Given the description of an element on the screen output the (x, y) to click on. 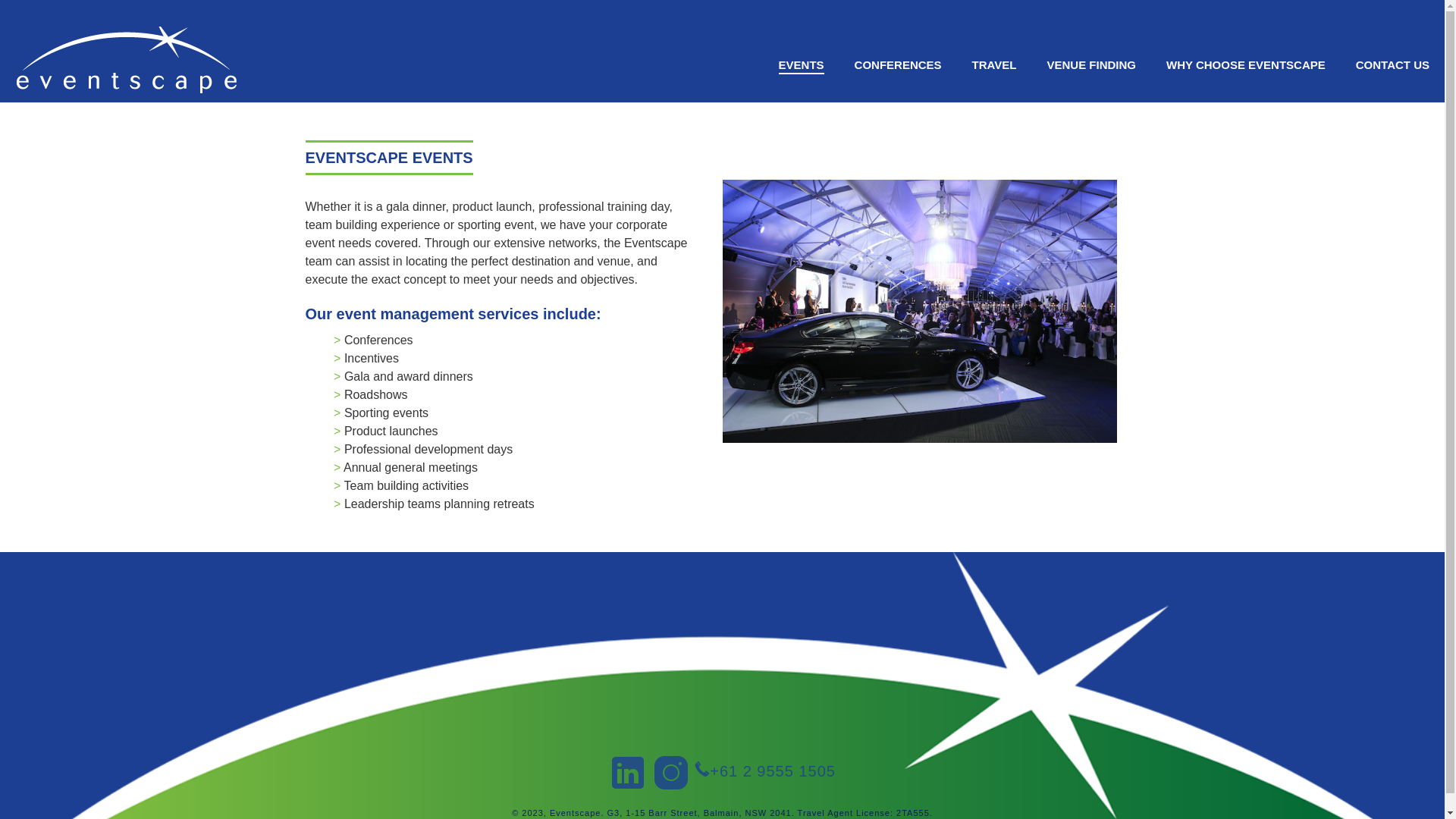
Professional conference organiser & event management company Element type: hover (126, 56)
EVENTS Element type: text (801, 65)
VENUE FINDING Element type: text (1091, 65)
TRAVEL Element type: text (994, 65)
CONFERENCES Element type: text (898, 65)
CONTACT US Element type: text (1392, 65)
WHY CHOOSE EVENTSCAPE Element type: text (1245, 65)
+61 2 9555 1505 Element type: text (772, 770)
